Given the description of an element on the screen output the (x, y) to click on. 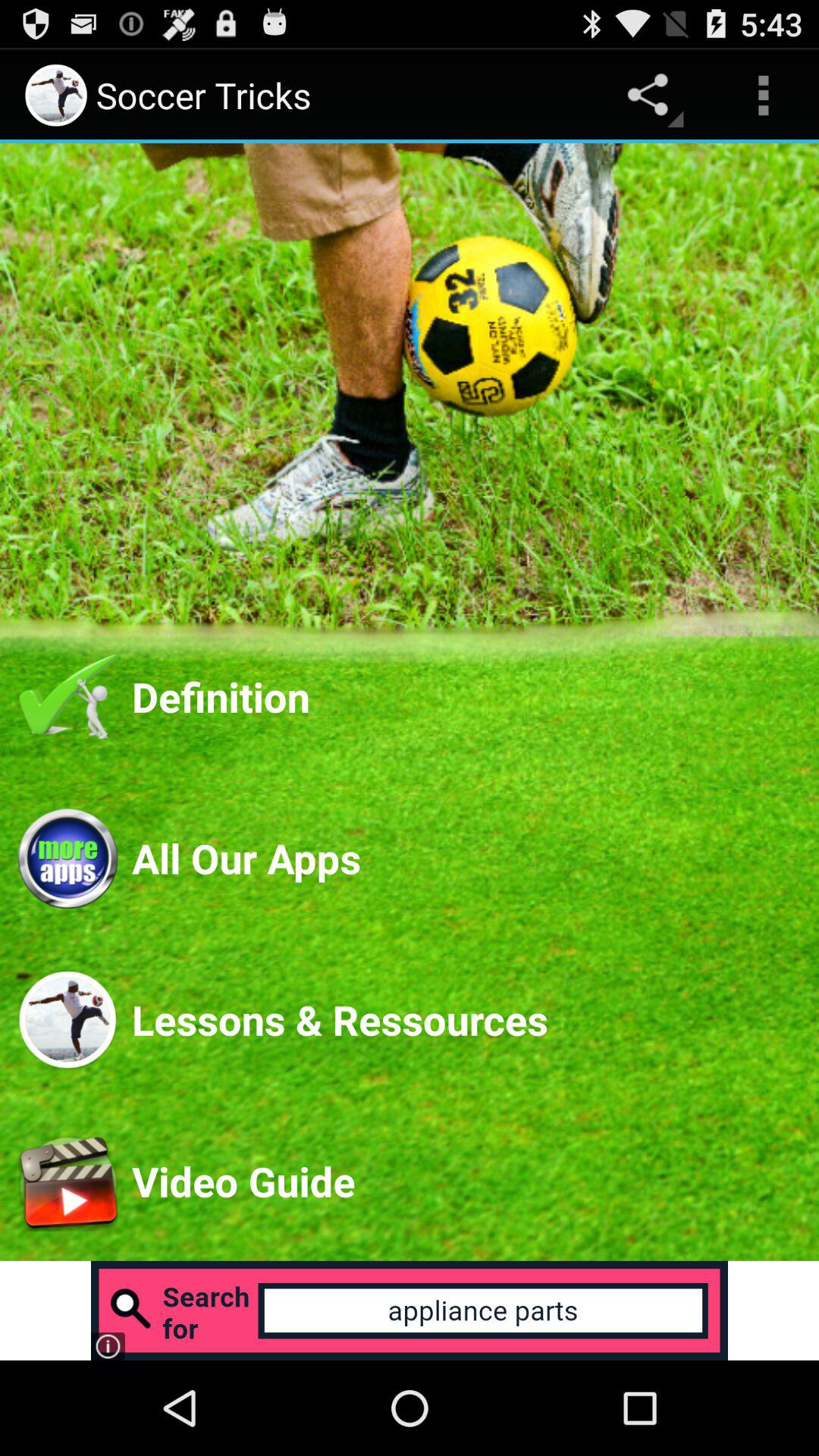
swipe to the lessons & ressources item (465, 1019)
